Given the description of an element on the screen output the (x, y) to click on. 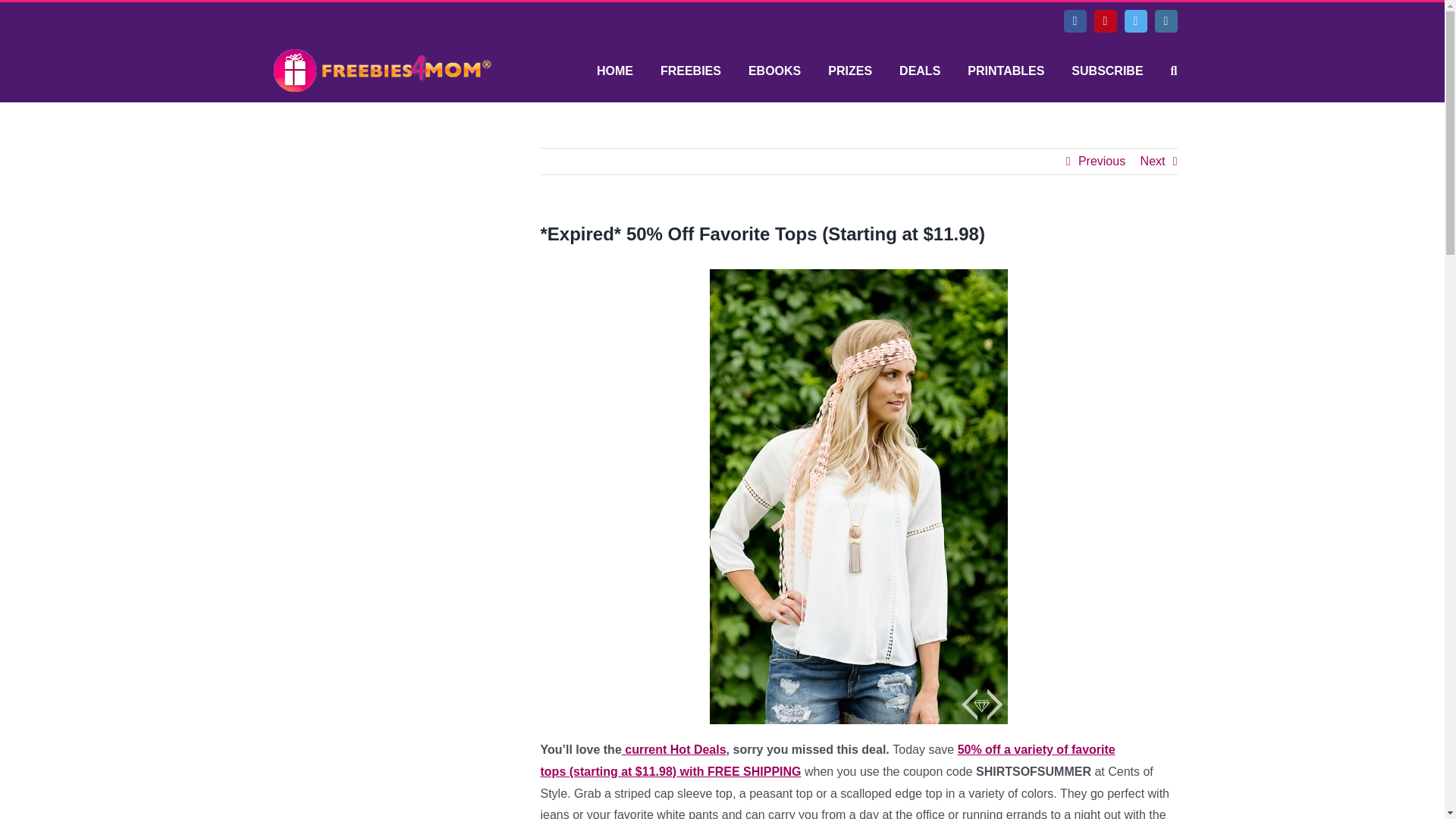
Instagram (1165, 20)
Twitter (1135, 20)
Facebook (1074, 20)
Twitter (1135, 20)
Instagram (1165, 20)
PRINTABLES (1005, 70)
Facebook (1074, 20)
Pinterest (1104, 20)
FREEBIES (690, 70)
Pinterest (1104, 20)
